Given the description of an element on the screen output the (x, y) to click on. 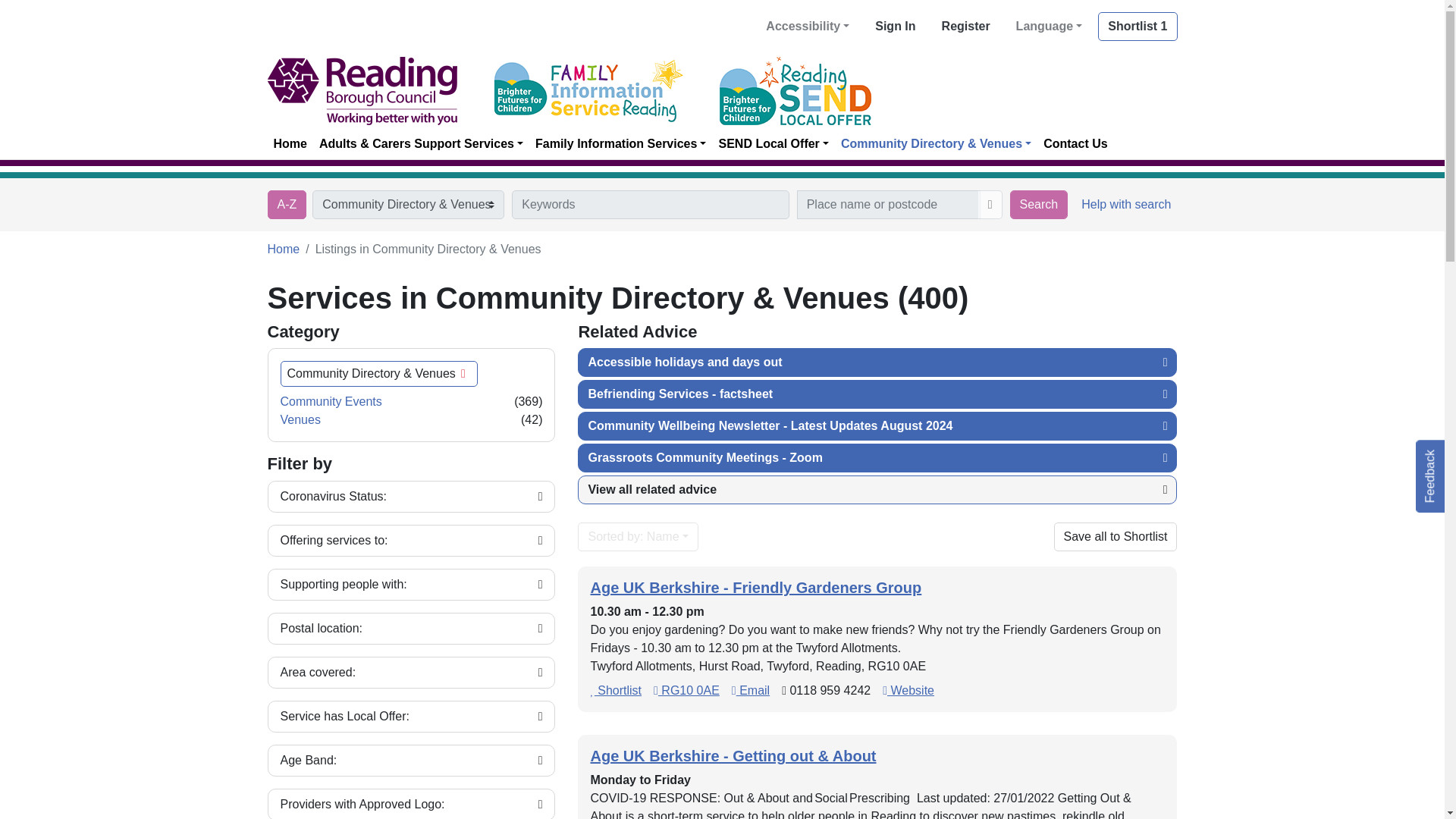
SEND Local Offer (772, 143)
Register (965, 26)
Save to Shortlist (615, 690)
Sign In (894, 26)
Website for Age UK Berkshire - Friendly Gardeners Group (908, 690)
View full details on this service (732, 755)
RG10 0AE on Google maps (686, 690)
Accessibility (807, 26)
Home (289, 143)
